Given the description of an element on the screen output the (x, y) to click on. 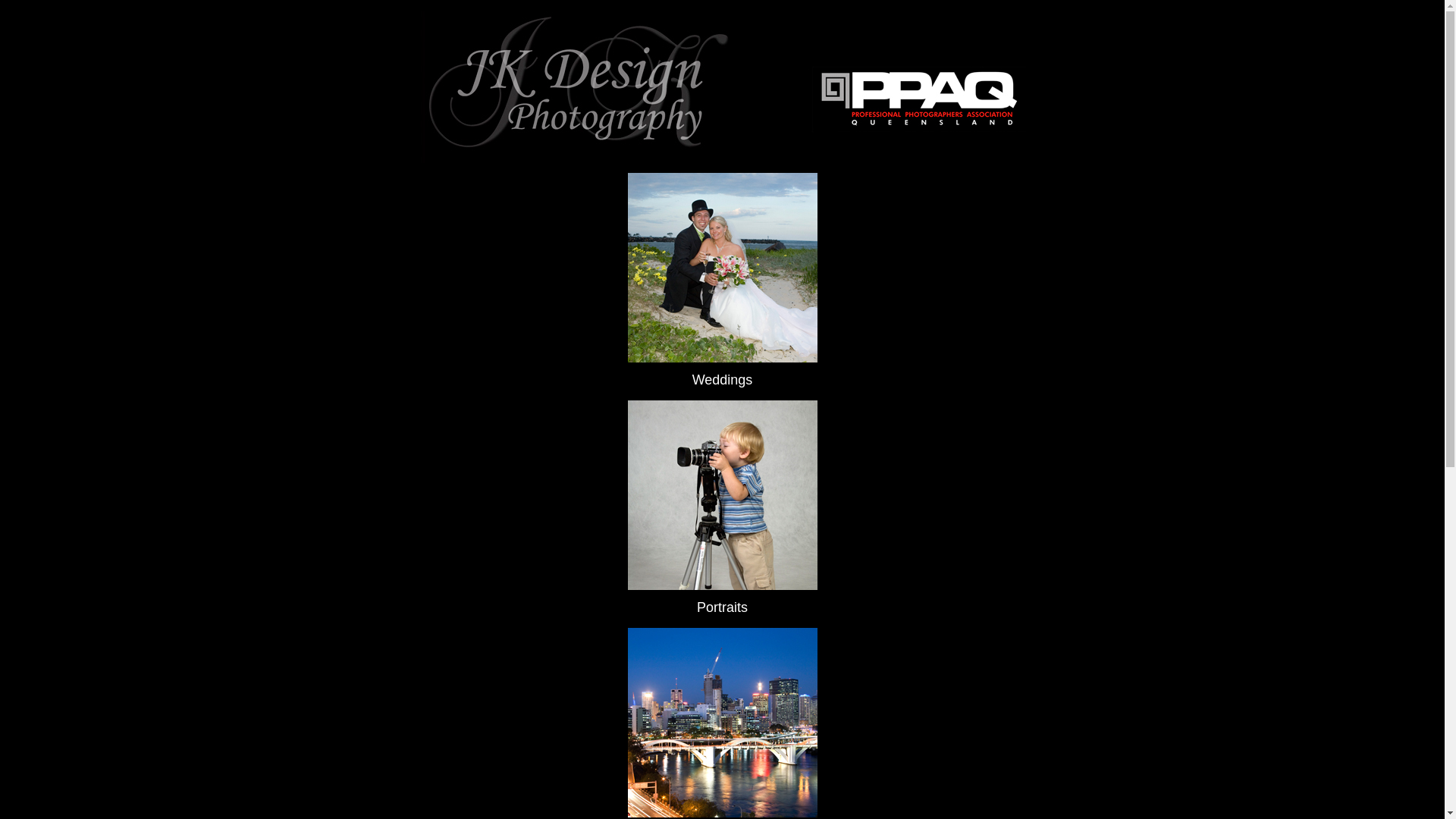
Weddings Element type: text (722, 380)
Portraits Element type: text (721, 608)
